Given the description of an element on the screen output the (x, y) to click on. 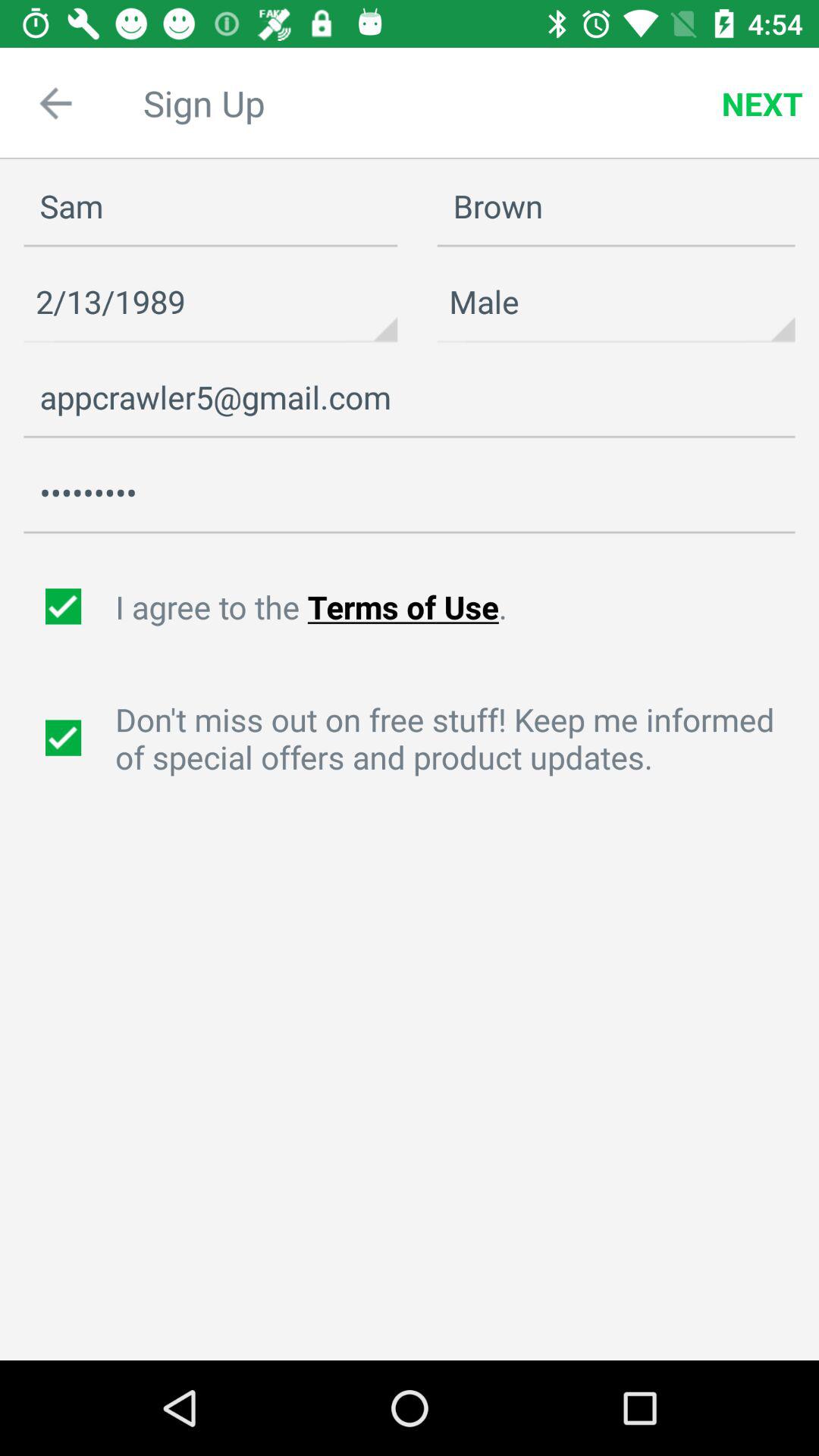
launch the item below the sam icon (210, 302)
